Given the description of an element on the screen output the (x, y) to click on. 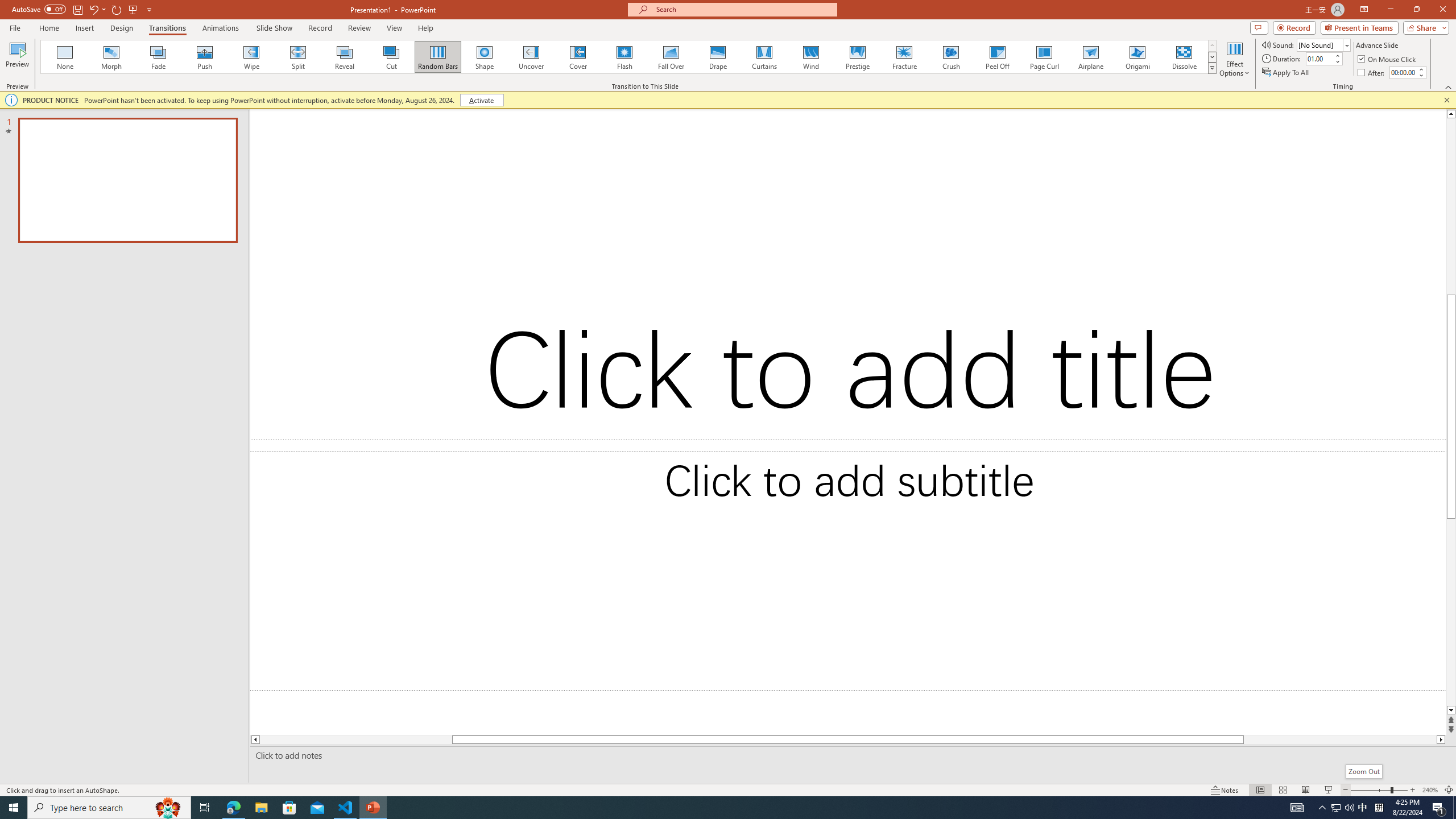
Page Curl (1043, 56)
Dissolve (1183, 56)
